Given the description of an element on the screen output the (x, y) to click on. 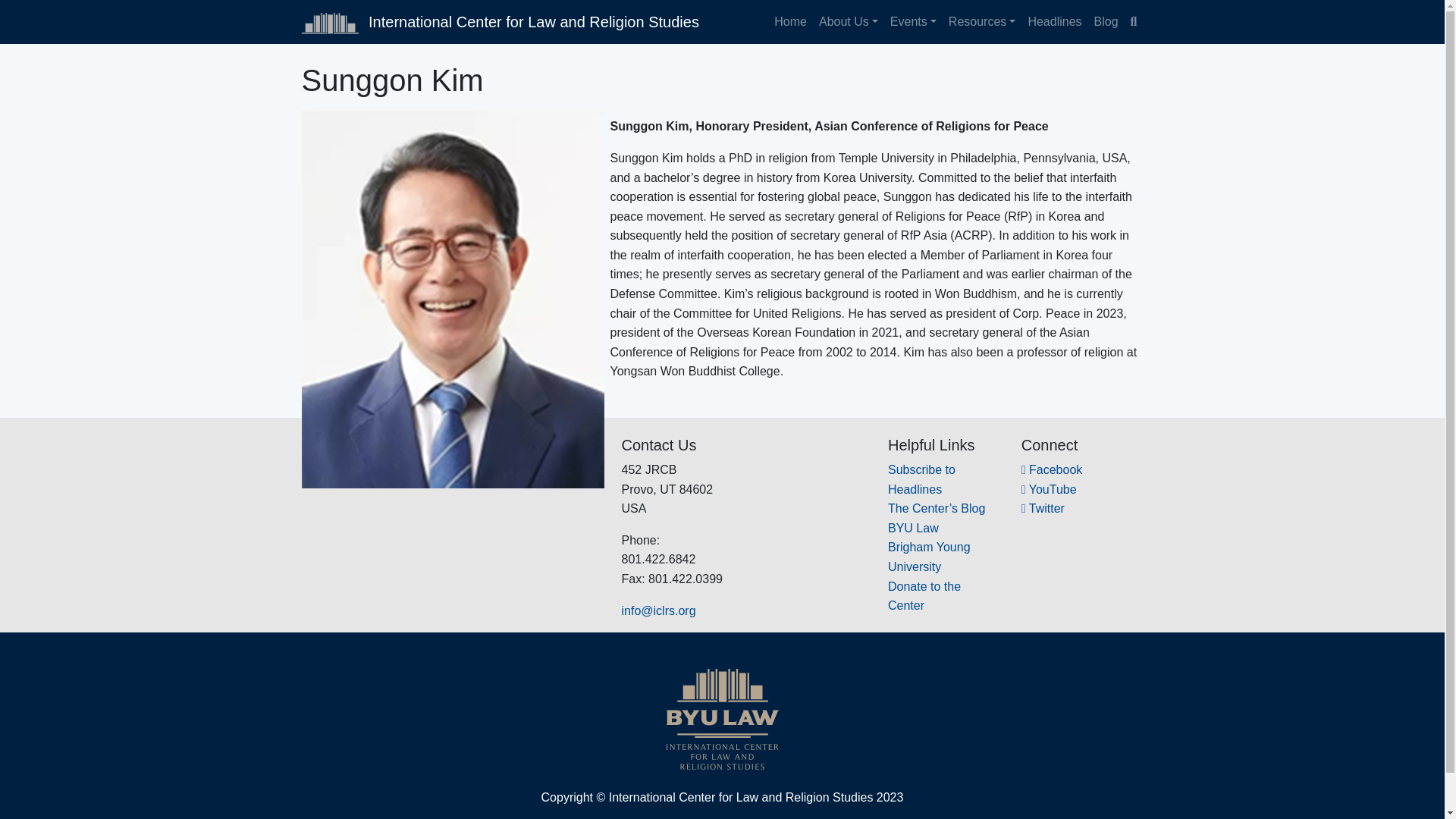
Donate to the Center (924, 595)
Home (790, 21)
YouTube (1049, 489)
Events (912, 21)
International Center for Law and Religion Studies (499, 21)
Resources (982, 21)
Headlines (1054, 21)
Resources (982, 21)
About Us (847, 21)
Home (790, 21)
BYU Law (913, 527)
Subscribe to Headlines (921, 479)
Twitter (1043, 508)
About Us (847, 21)
Events (912, 21)
